Given the description of an element on the screen output the (x, y) to click on. 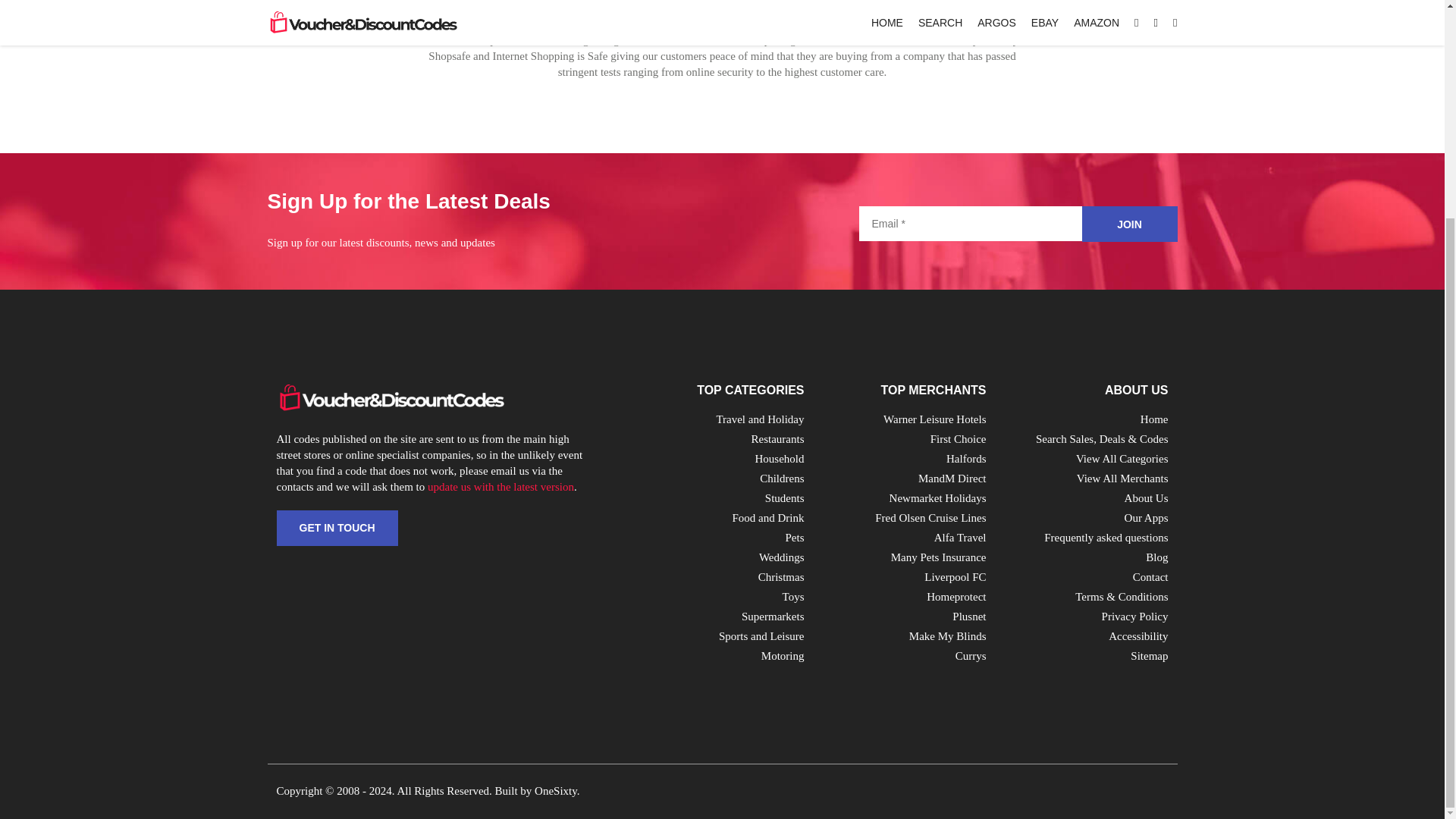
Voucher and Discount Codes (389, 397)
Travel and Holiday (759, 419)
Childrens (781, 478)
Students (785, 498)
Join (1128, 223)
Household (780, 458)
Restaurants (778, 439)
update us with the latest version (500, 486)
Food and Drink (768, 517)
GET IN TOUCH (336, 528)
